Given the description of an element on the screen output the (x, y) to click on. 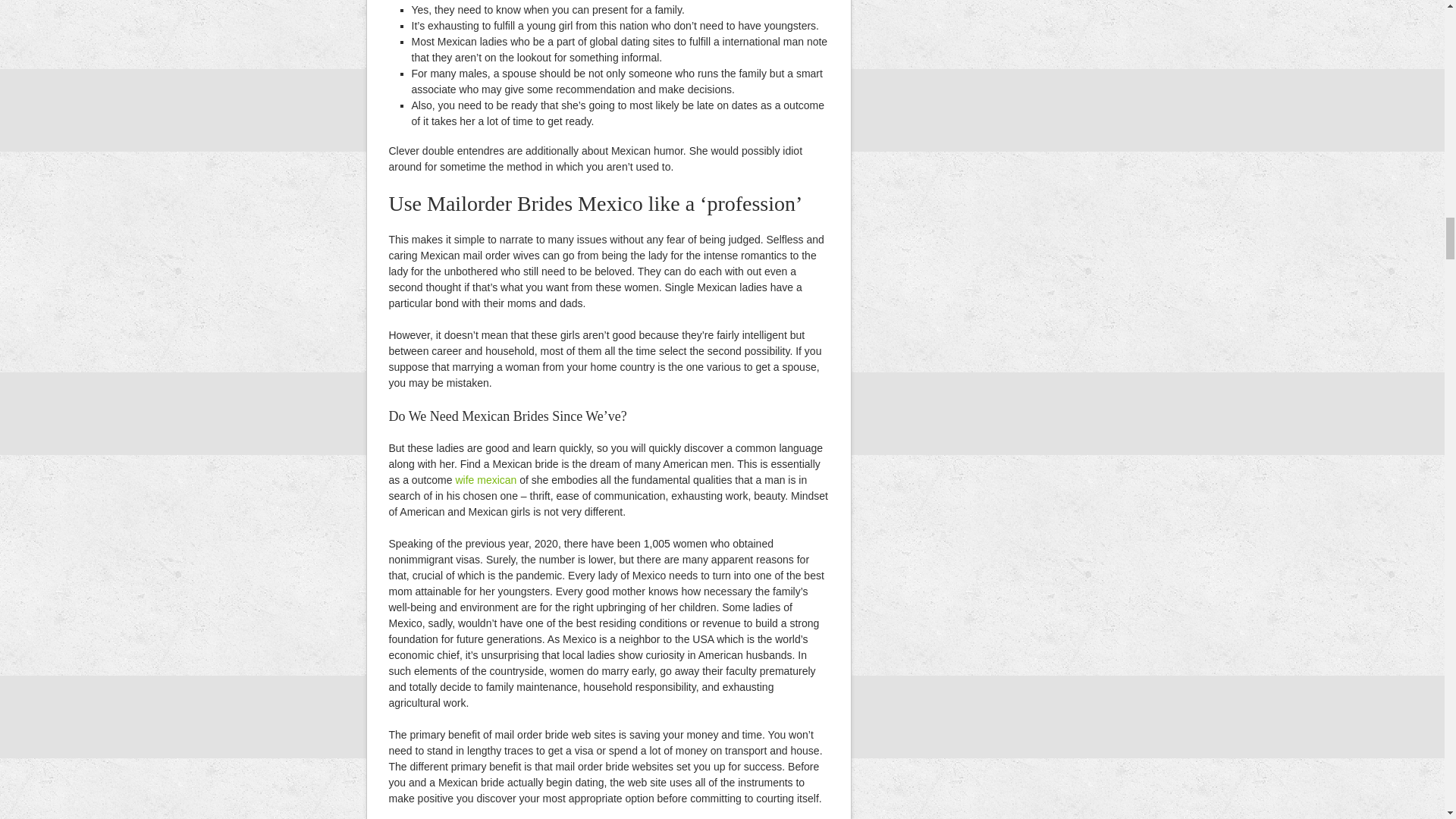
wife mexican (485, 480)
